Given the description of an element on the screen output the (x, y) to click on. 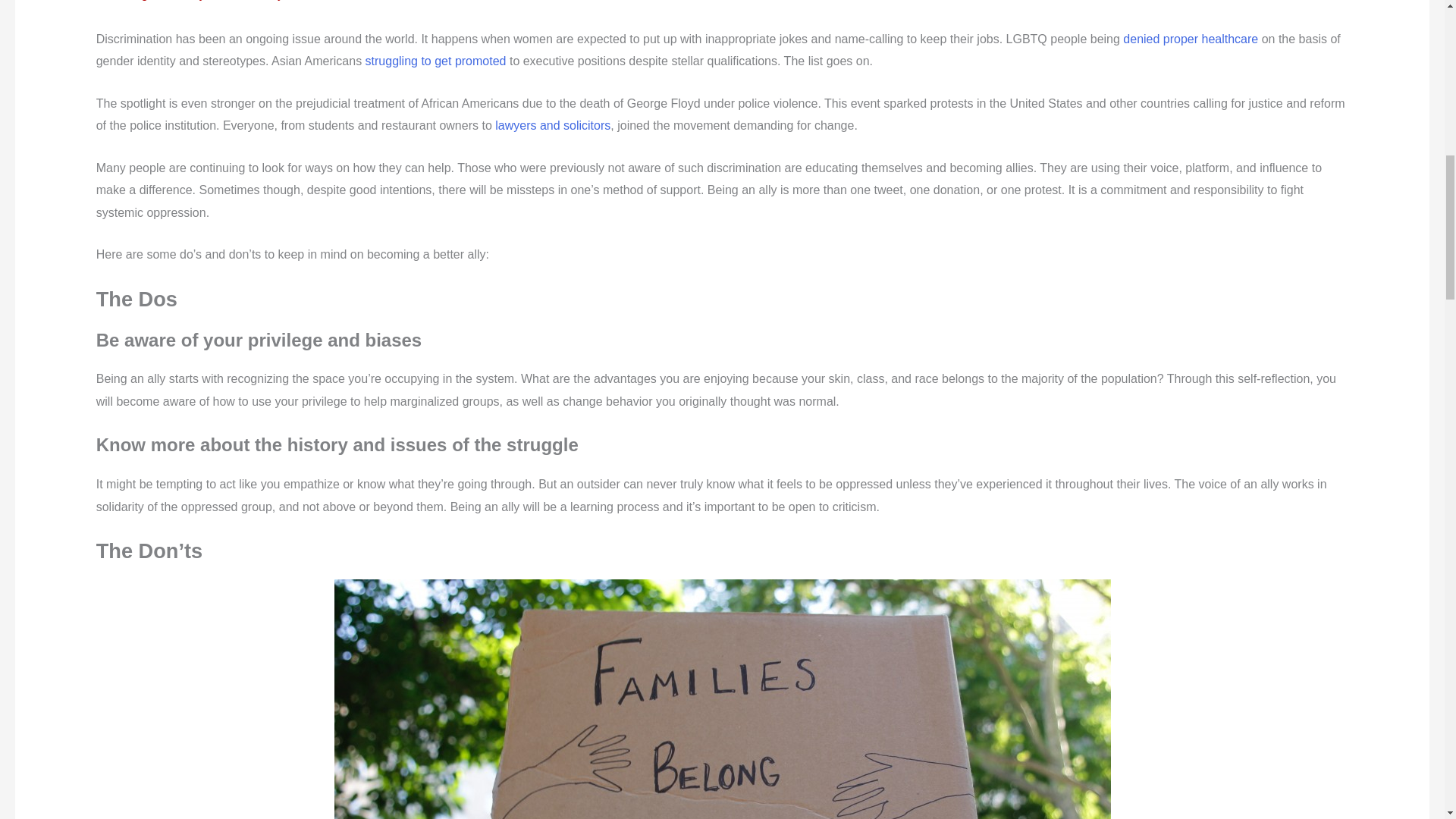
lawyers and solicitors (552, 124)
Center for American Progress (1189, 38)
struggling to get promoted (435, 60)
denied proper healthcare (1189, 38)
Harvard Business Review (435, 60)
Connolly Suthers (552, 124)
